Given the description of an element on the screen output the (x, y) to click on. 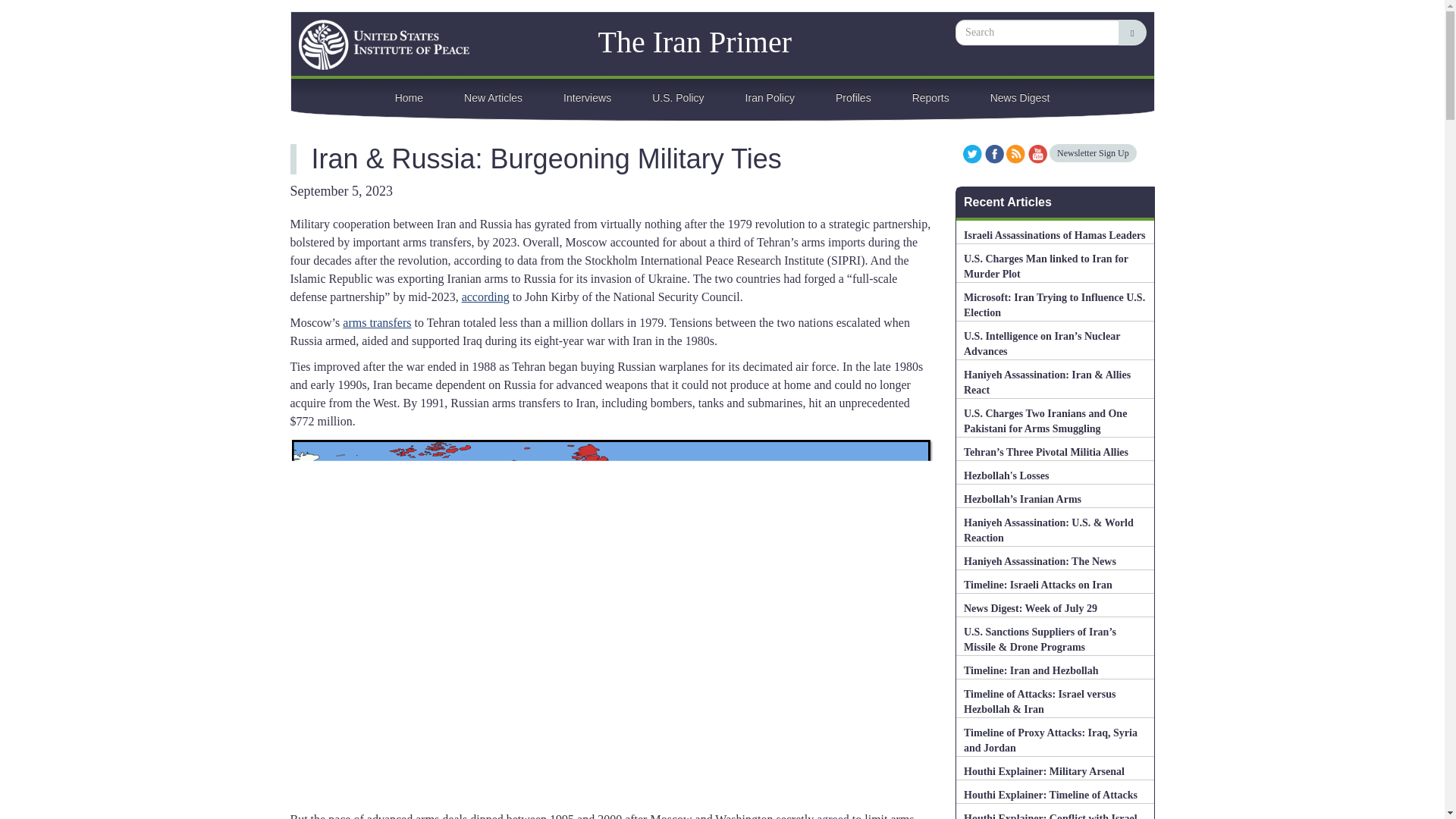
New Articles (493, 95)
Home (631, 38)
Interviews (587, 95)
Iran Policy (769, 95)
Profiles (852, 95)
agreed (832, 816)
The Iran Primer (631, 38)
Reports (930, 95)
Home (376, 44)
according (485, 296)
